Given the description of an element on the screen output the (x, y) to click on. 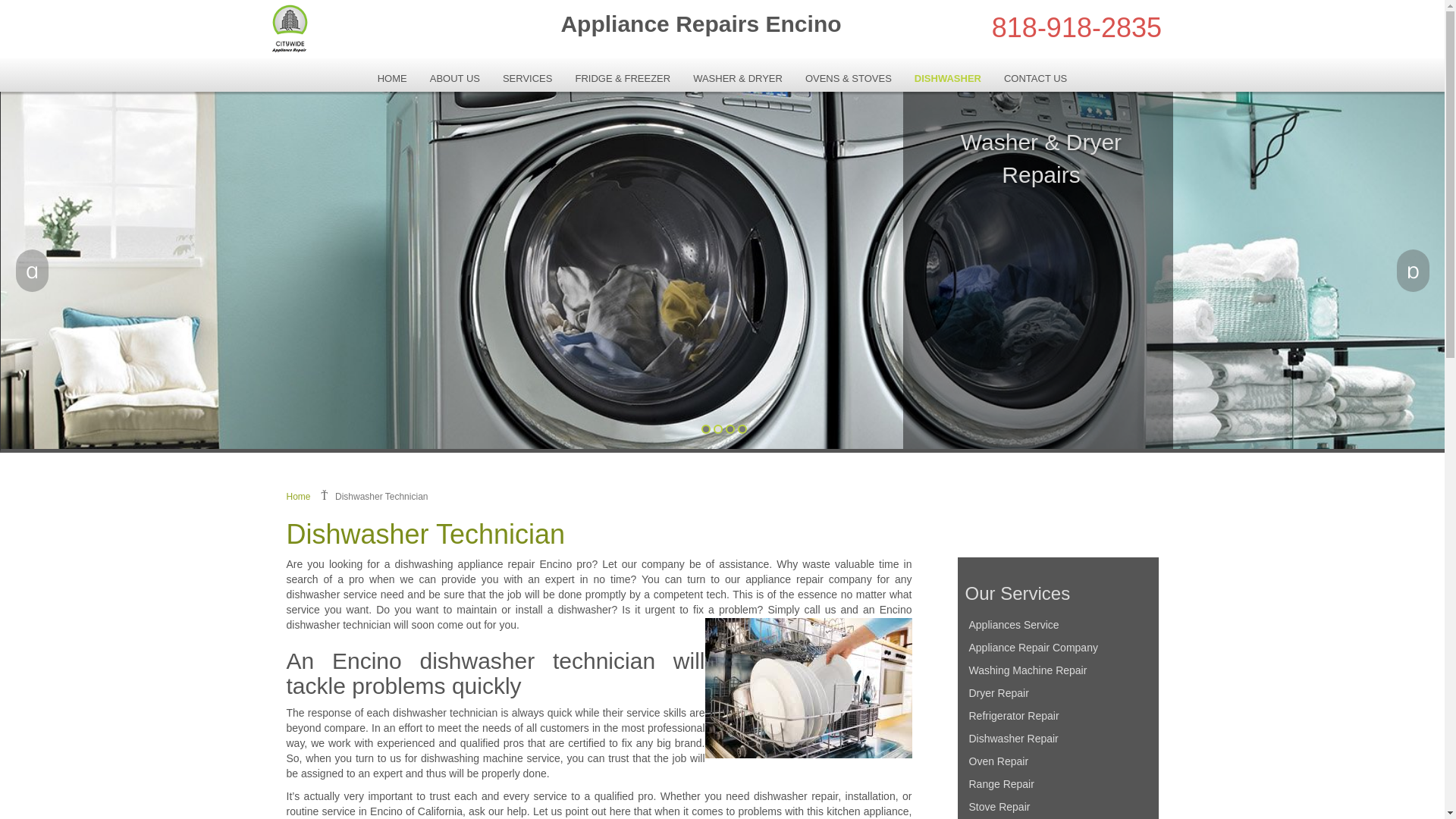
ABOUT US (455, 78)
818-918-2835 (1076, 27)
SERVICES (528, 78)
CONTACT US (1035, 78)
DISHWASHER (947, 78)
HOME (392, 78)
